Given the description of an element on the screen output the (x, y) to click on. 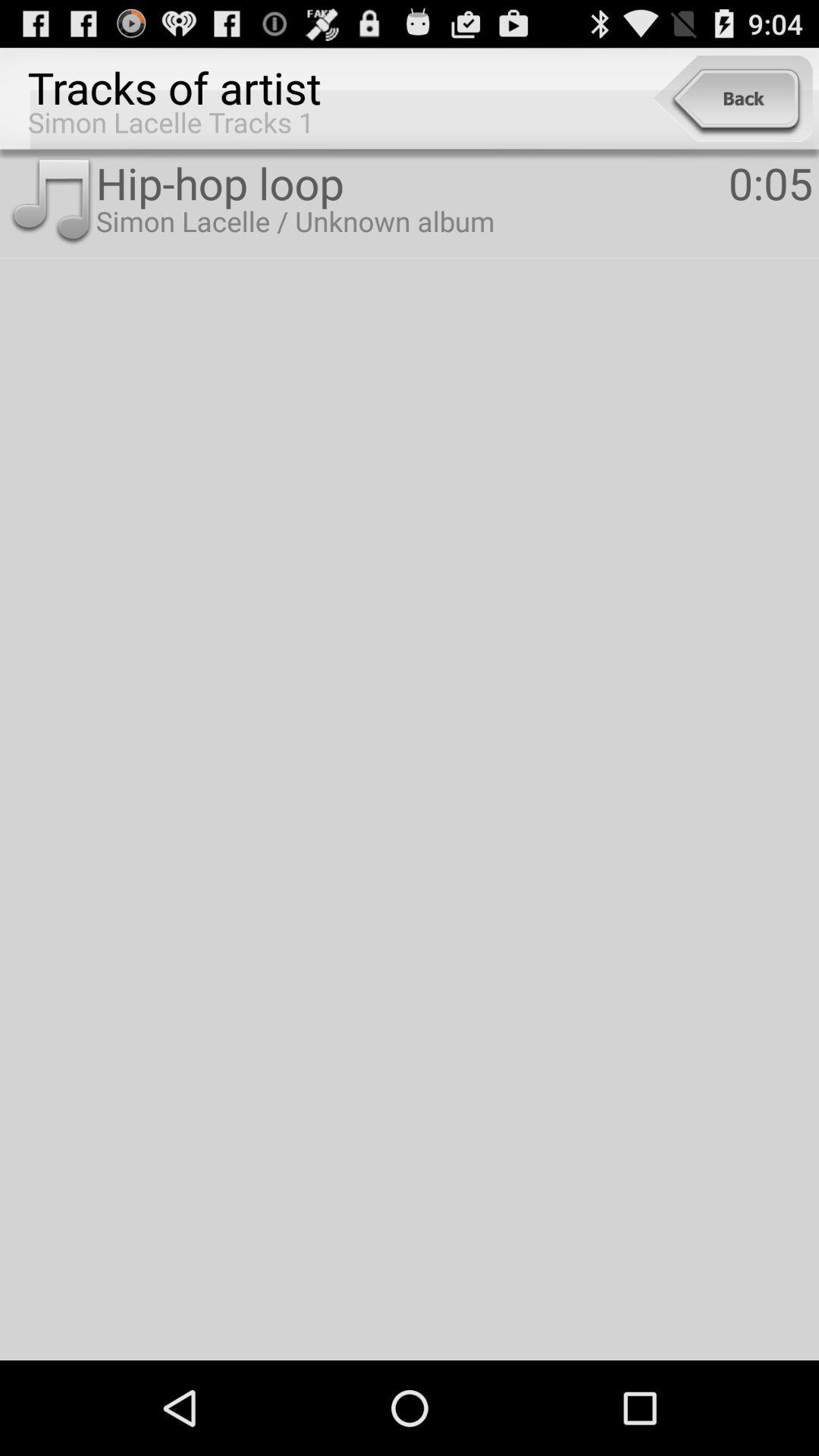
choose item next to the tracks of artist app (732, 98)
